Given the description of an element on the screen output the (x, y) to click on. 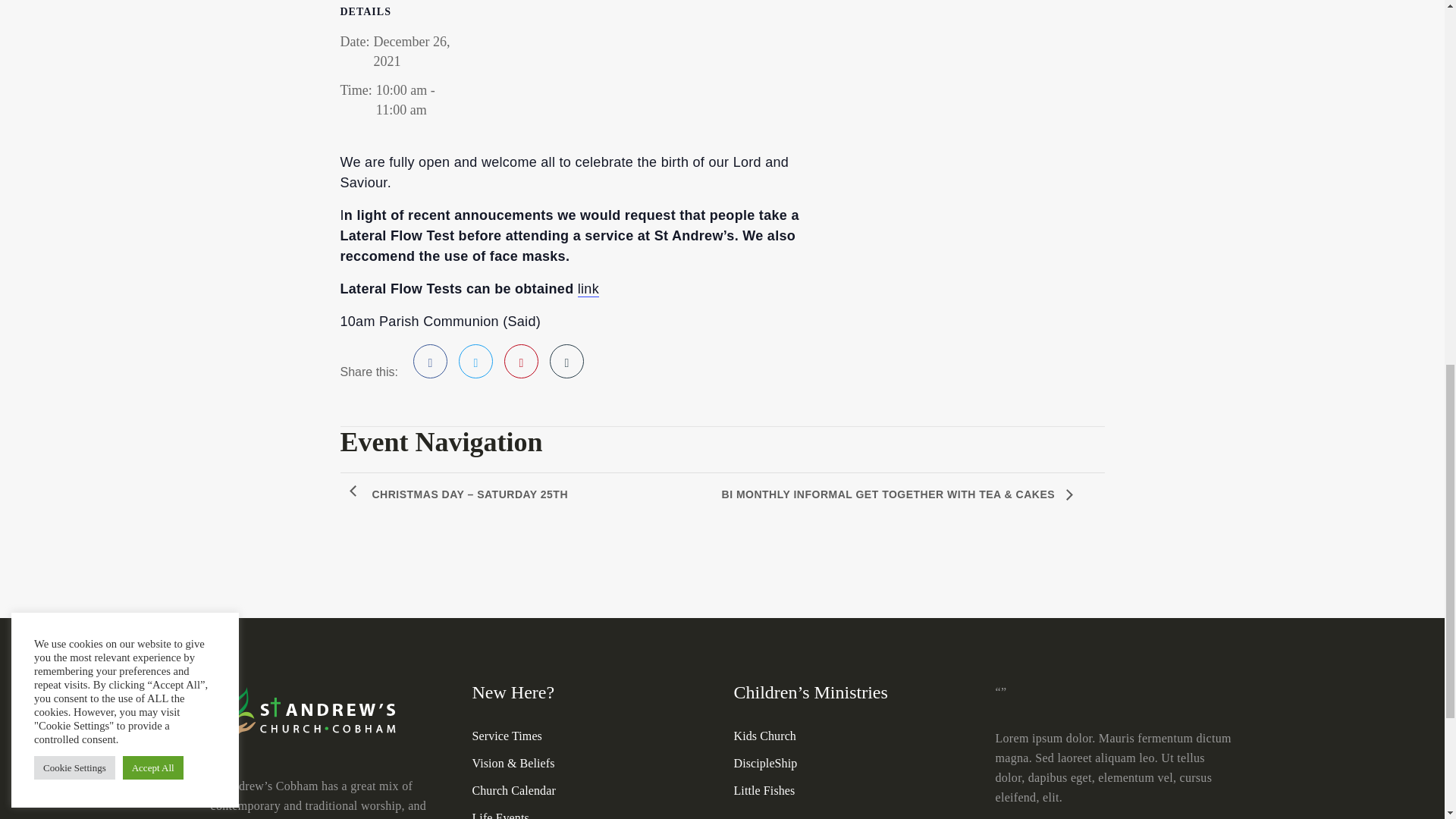
2021-12-26 (410, 51)
2021-12-26 (403, 99)
